Given the description of an element on the screen output the (x, y) to click on. 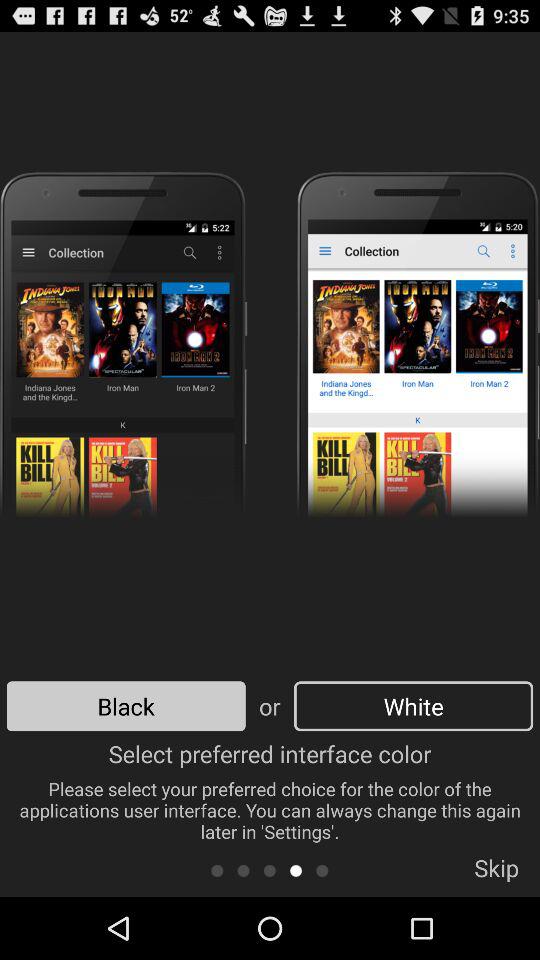
turn off item below the select preferred interface item (321, 870)
